Given the description of an element on the screen output the (x, y) to click on. 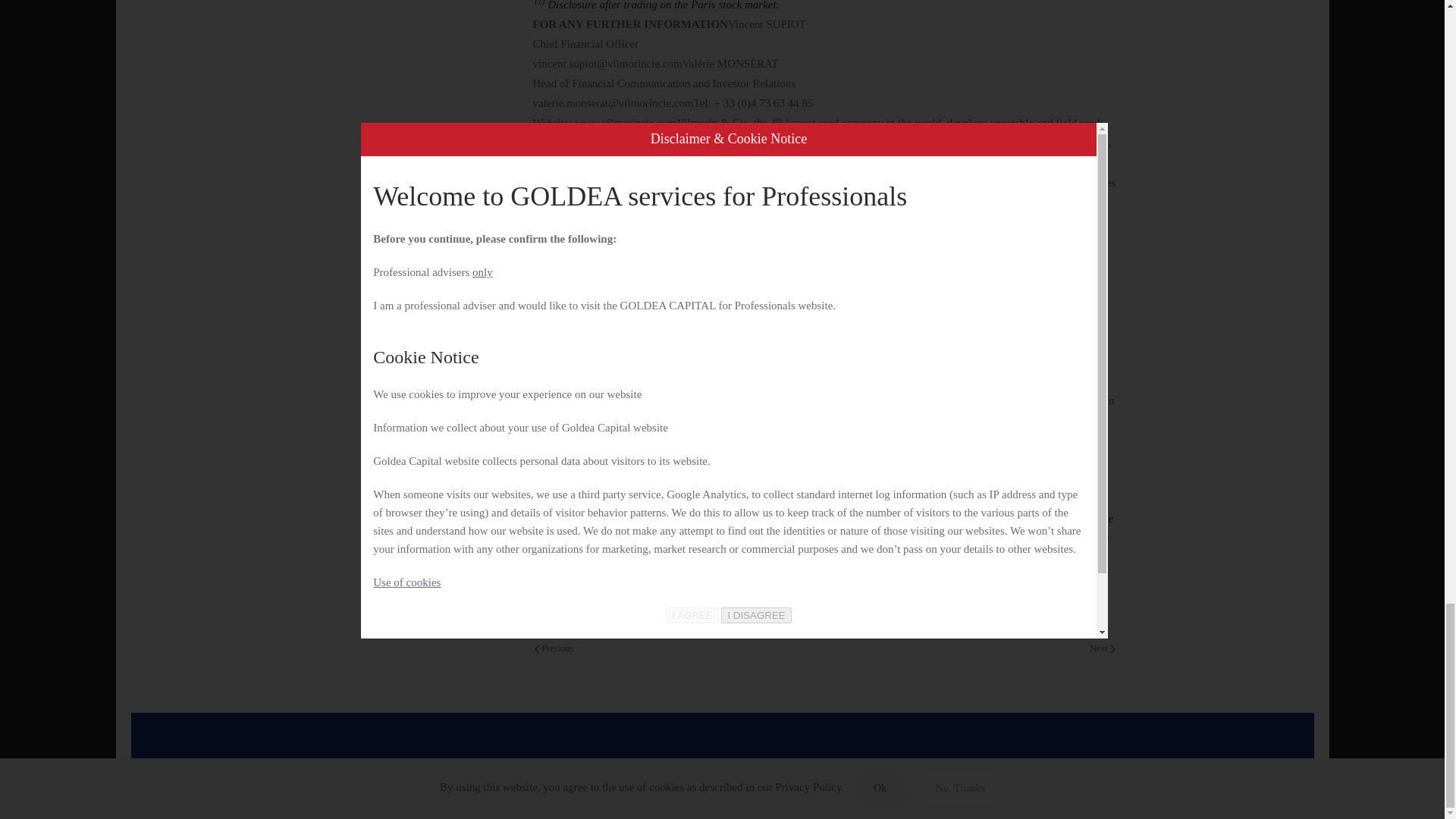
Previous (553, 649)
Next (1101, 649)
